Given the description of an element on the screen output the (x, y) to click on. 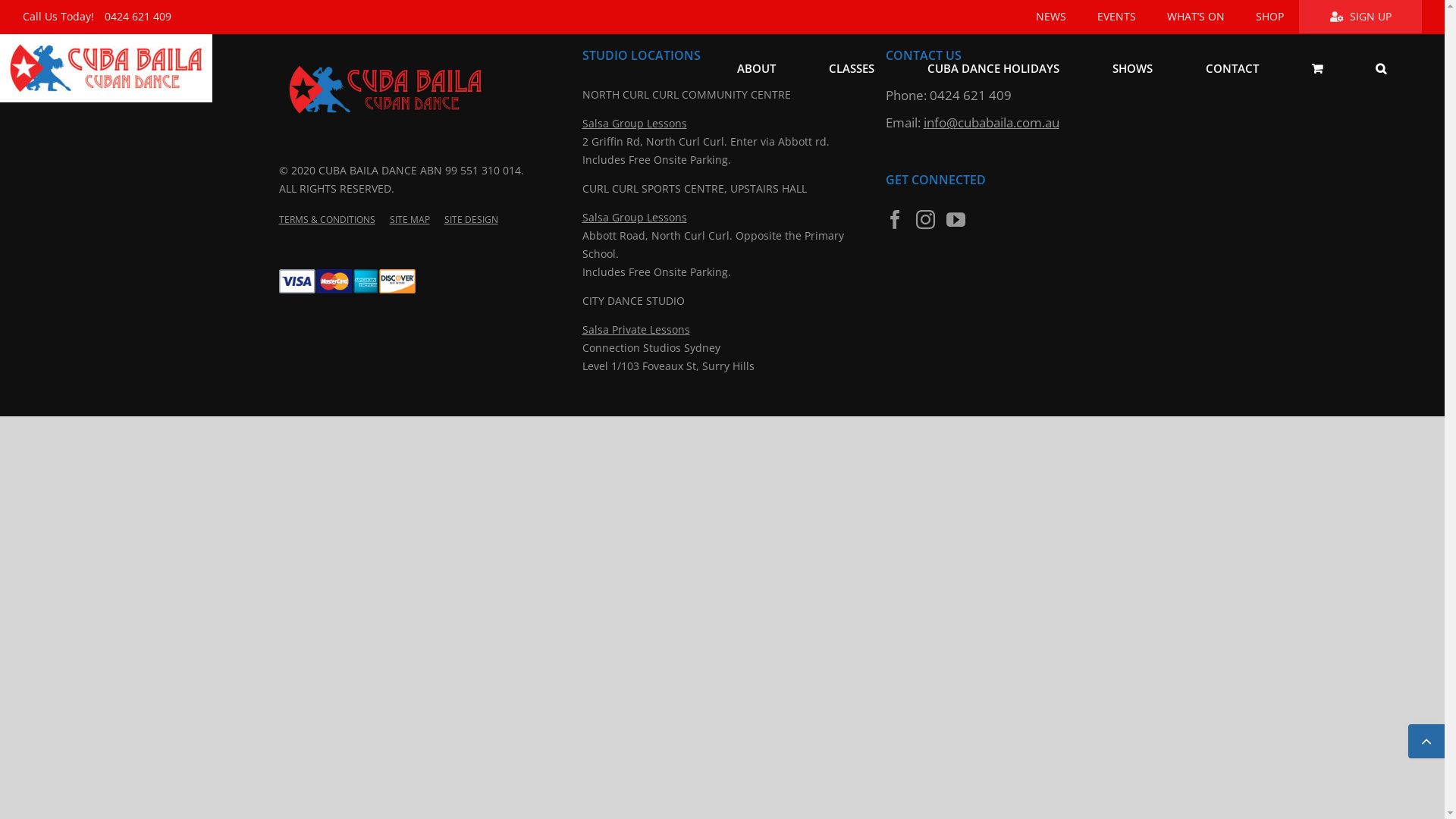
Search Element type: hover (1380, 68)
TERMS & CONDITIONS Element type: text (327, 219)
Salsa Group Lessons Element type: text (634, 123)
SIGN UP Element type: text (1360, 16)
CONTACT Element type: text (1231, 68)
SITE MAP Element type: text (409, 219)
SITE DESIGN Element type: text (471, 219)
SHOWS Element type: text (1132, 68)
0424 621 409 Element type: text (141, 16)
info@cubabaila.com.au Element type: text (991, 122)
0424 621 409 Element type: text (970, 95)
ABOUT Element type: text (755, 68)
Go to Top Element type: text (1426, 741)
CLASSES Element type: text (851, 68)
Salsa Group Lessons Element type: text (634, 217)
Salsa Private Lessons Element type: text (636, 329)
CUBA DANCE HOLIDAYS Element type: text (993, 68)
NEWS Element type: text (1050, 16)
SHOP Element type: text (1269, 16)
EVENTS Element type: text (1116, 16)
